Given the description of an element on the screen output the (x, y) to click on. 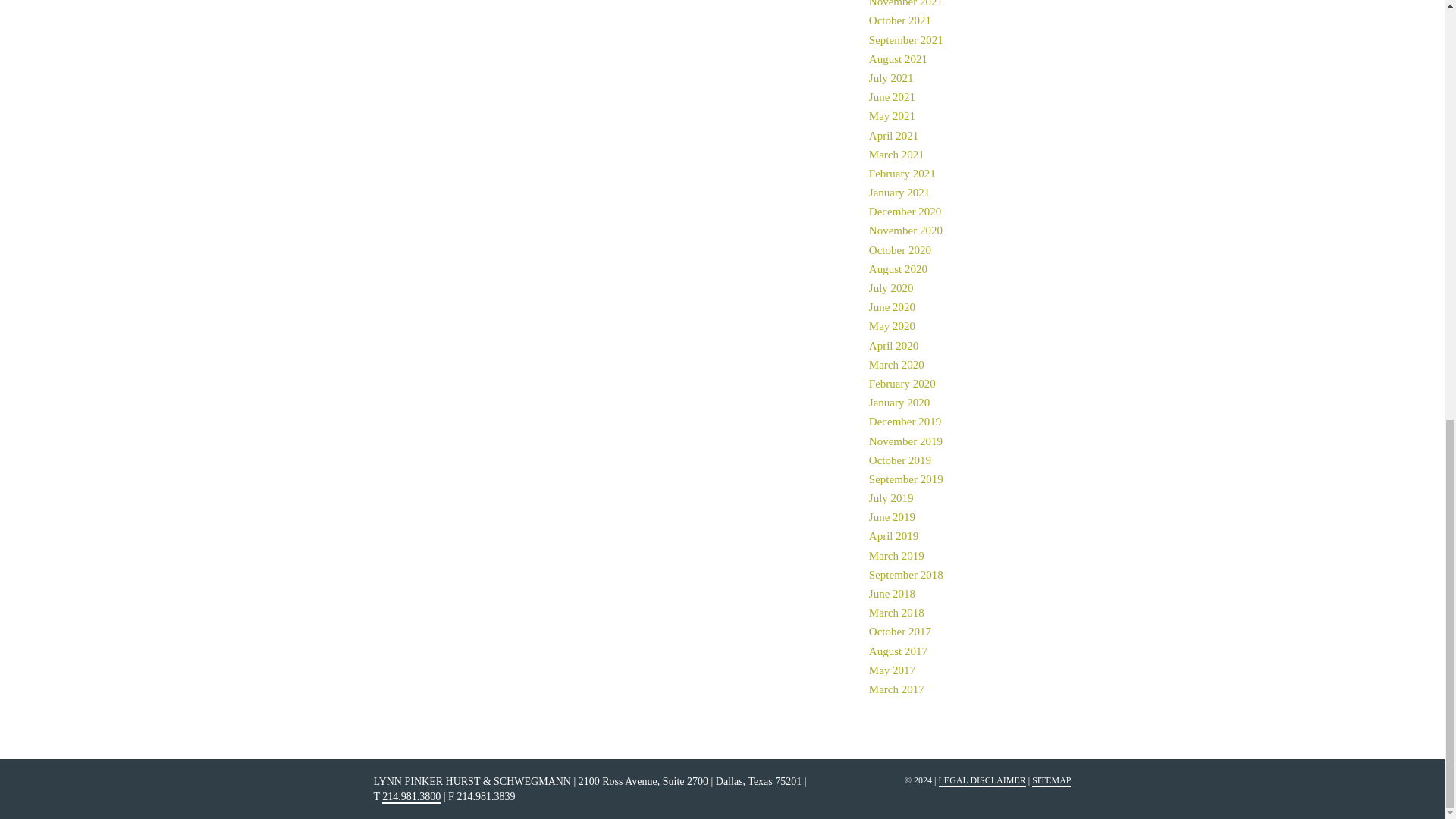
May 2021 (892, 116)
September 2021 (906, 40)
July 2021 (891, 78)
November 2021 (905, 4)
March 2021 (896, 155)
December 2020 (904, 212)
January 2021 (899, 192)
April 2021 (893, 136)
February 2021 (902, 173)
August 2021 (898, 59)
October 2021 (900, 20)
June 2021 (892, 97)
